Given the description of an element on the screen output the (x, y) to click on. 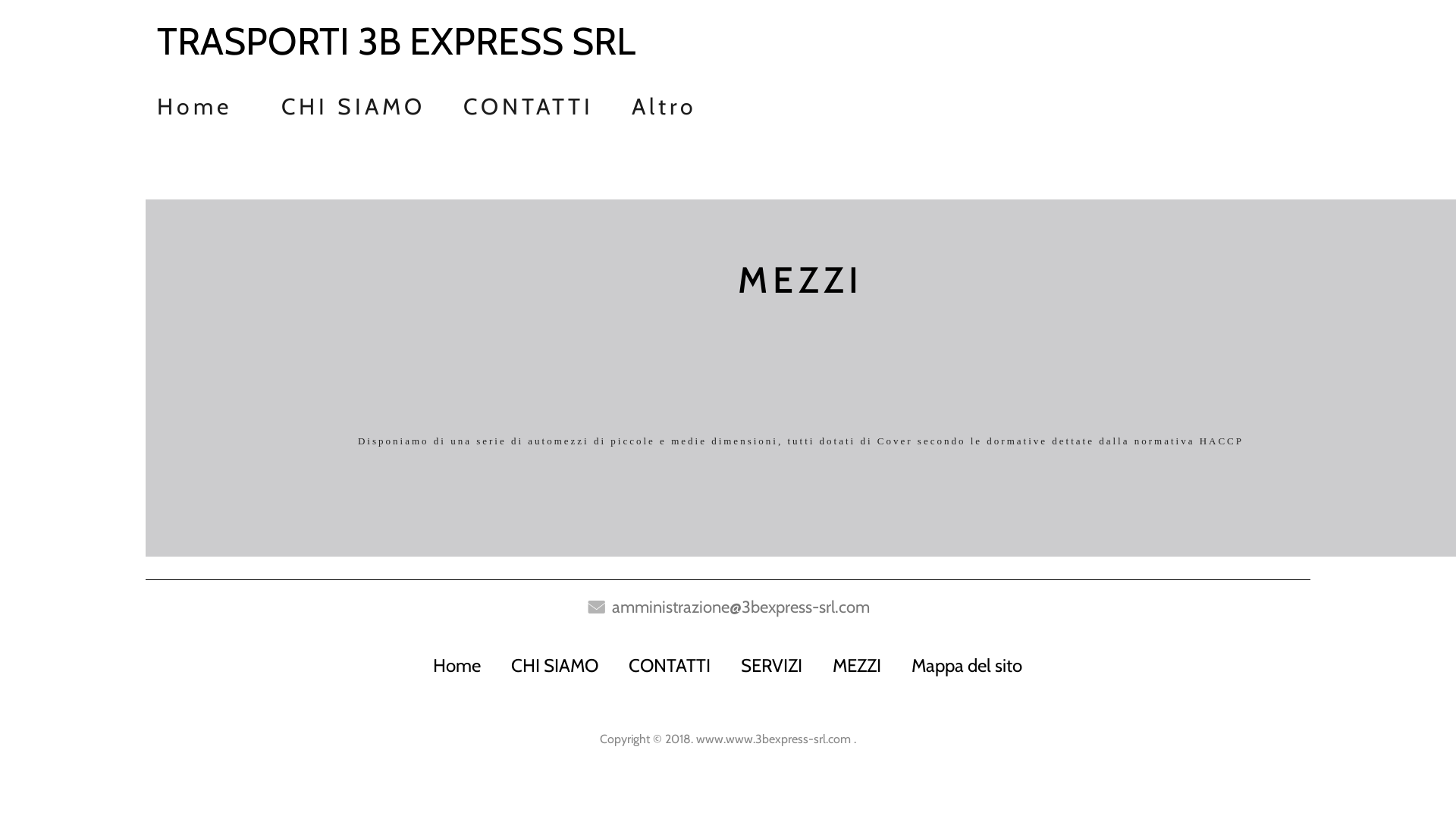
MEZZI Element type: text (856, 665)
Mappa del sito Element type: text (966, 665)
SERVIZI Element type: text (771, 665)
Altro Element type: text (663, 101)
CHI SIAMO Element type: text (554, 665)
CONTATTI Element type: text (528, 101)
CHI SIAMO Element type: text (353, 101)
Home Element type: text (456, 665)
amministrazione@3bexpress-srl.com Element type: text (740, 606)
CONTATTI Element type: text (669, 665)
Home Element type: text (209, 101)
